Given the description of an element on the screen output the (x, y) to click on. 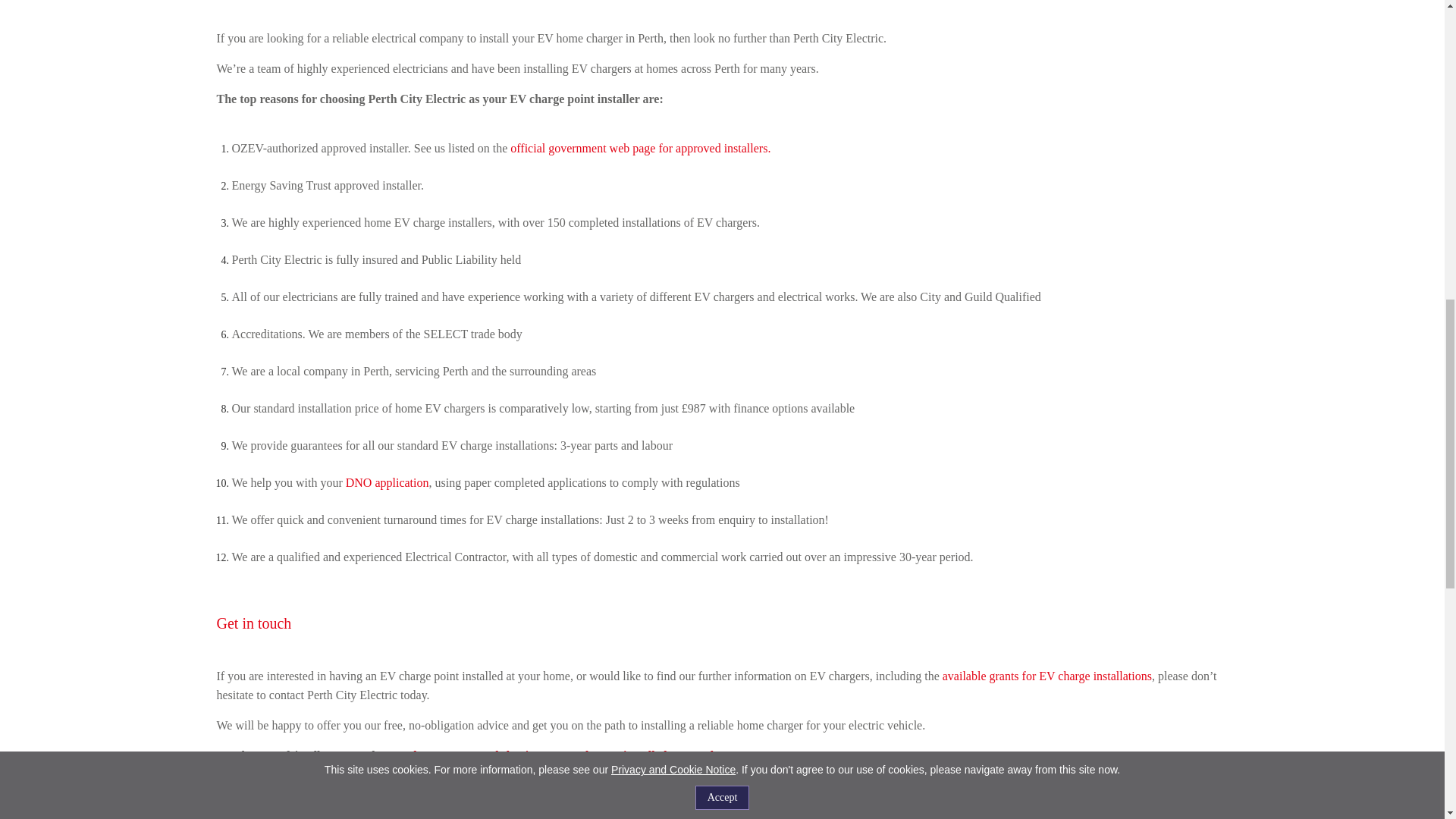
DNO application (387, 481)
available grants for EV charge installations (1046, 675)
official government web page for approved installers. (640, 147)
